Given the description of an element on the screen output the (x, y) to click on. 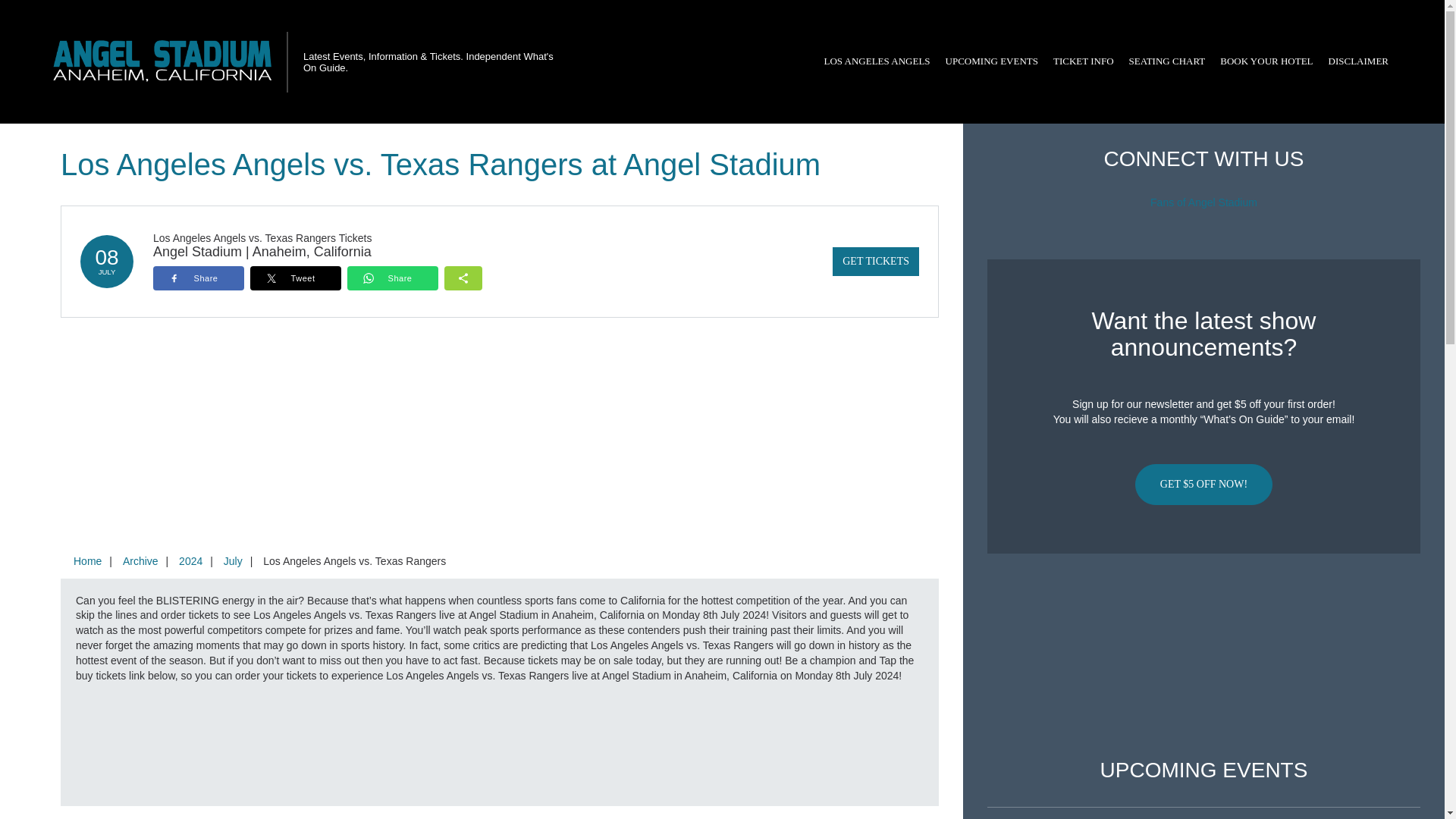
Los Angeles Angels vs. Texas Rangers Tickets (261, 237)
Fans of Angel Stadium (1203, 202)
BOOK YOUR HOTEL (1266, 61)
Archive (140, 561)
TICKET INFO (1083, 61)
Advertisement (1204, 655)
SEATING CHART (1166, 61)
Home (87, 561)
UPCOMING EVENTS (991, 61)
July (232, 561)
DISCLAIMER (1358, 61)
LOS ANGELES ANGELS (876, 61)
2024 (190, 561)
GET TICKETS (875, 261)
